Given the description of an element on the screen output the (x, y) to click on. 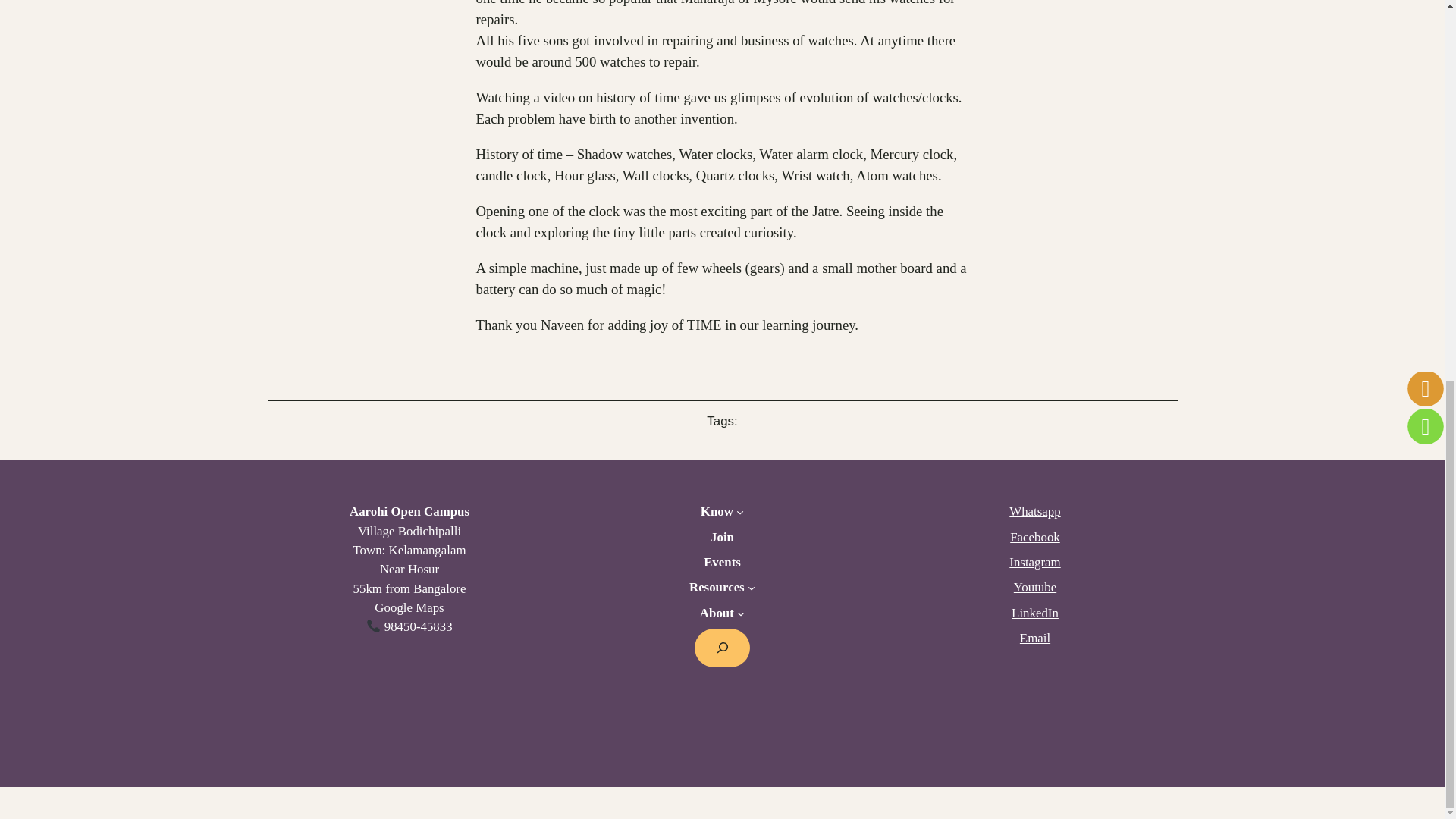
Google Maps (409, 607)
Resources (716, 587)
Join (721, 537)
Know (716, 511)
Events (722, 561)
